Given the description of an element on the screen output the (x, y) to click on. 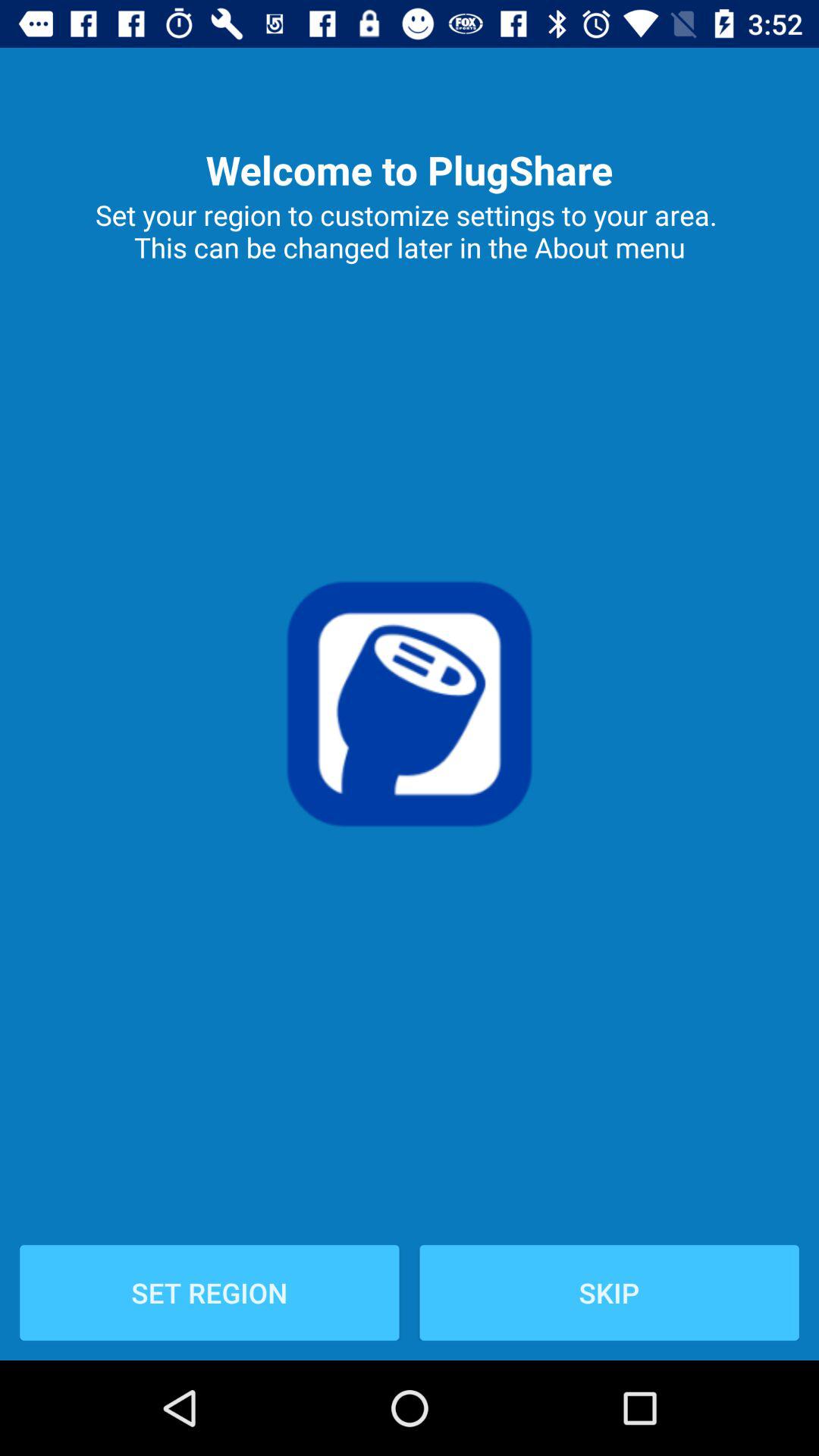
swipe to skip item (609, 1292)
